Given the description of an element on the screen output the (x, y) to click on. 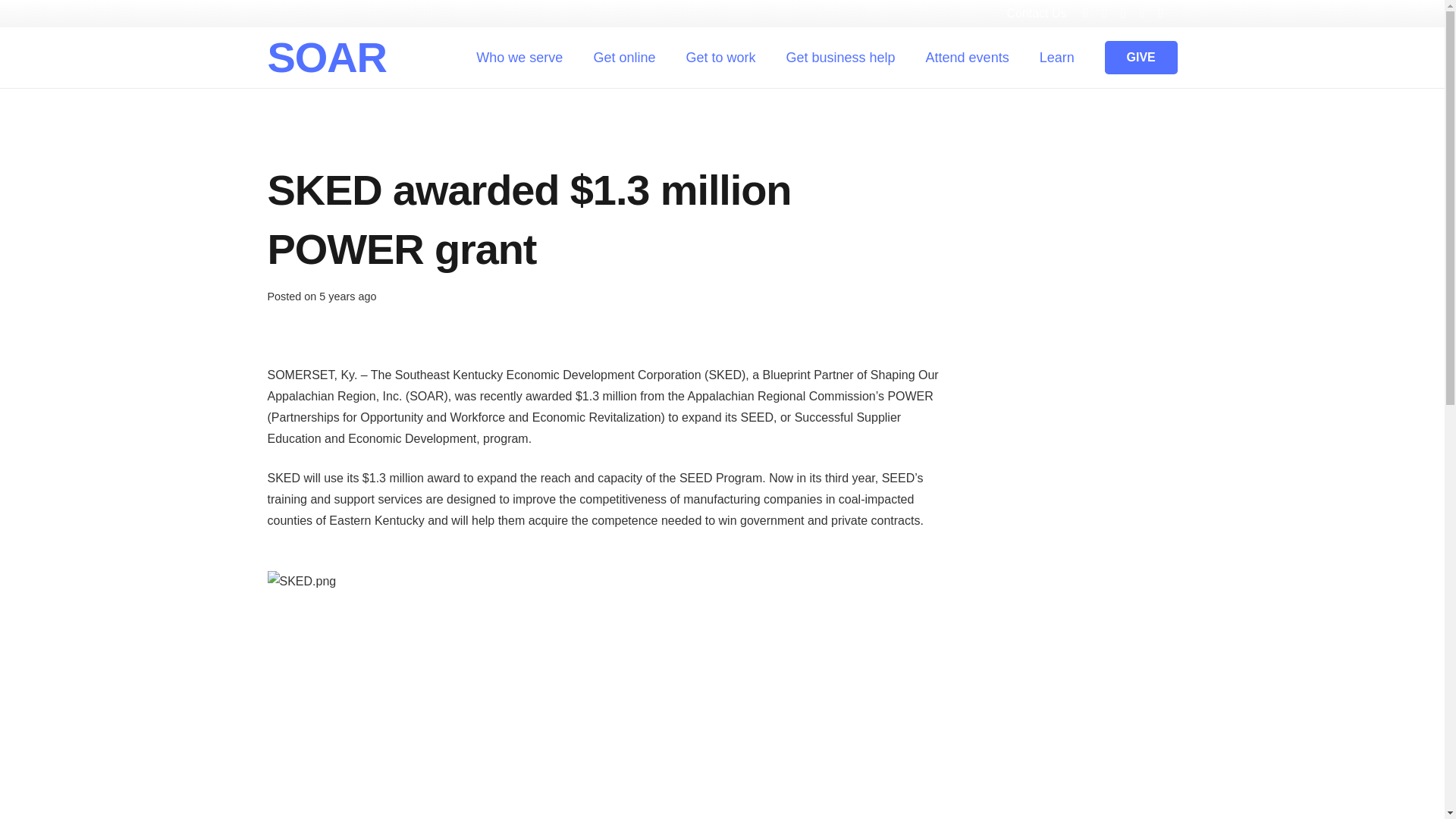
Register for events (798, 521)
Read news and updates (813, 557)
Get online (623, 57)
SOAR (325, 57)
Learn (1057, 57)
Get to work (719, 57)
Who we serve (519, 57)
Download free eBooks (808, 592)
Get business help (796, 486)
Attend events (968, 57)
